Given the description of an element on the screen output the (x, y) to click on. 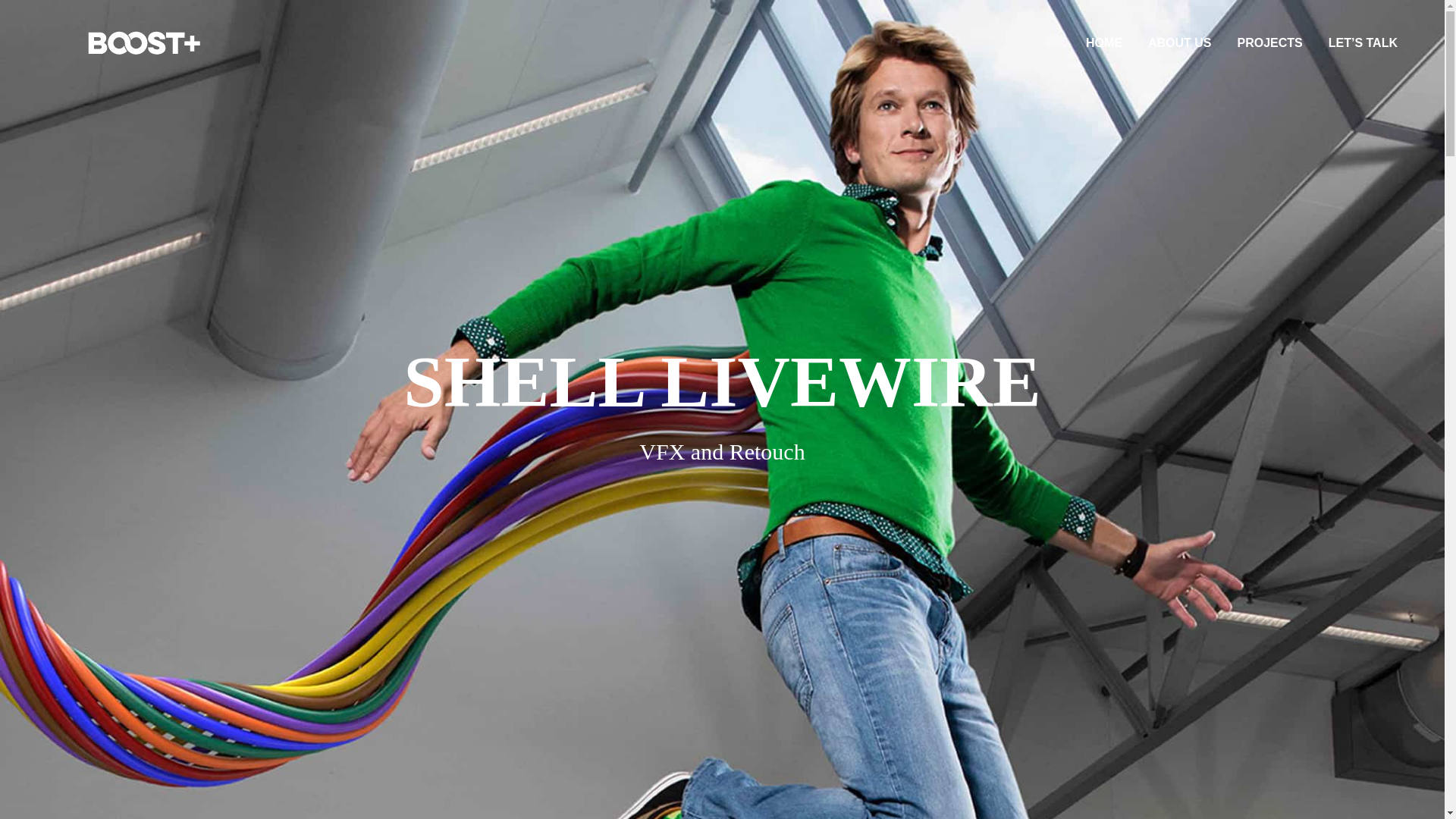
ABOUT US Element type: text (1179, 43)
HOME Element type: text (1104, 43)
PROJECTS Element type: text (1268, 43)
